Given the description of an element on the screen output the (x, y) to click on. 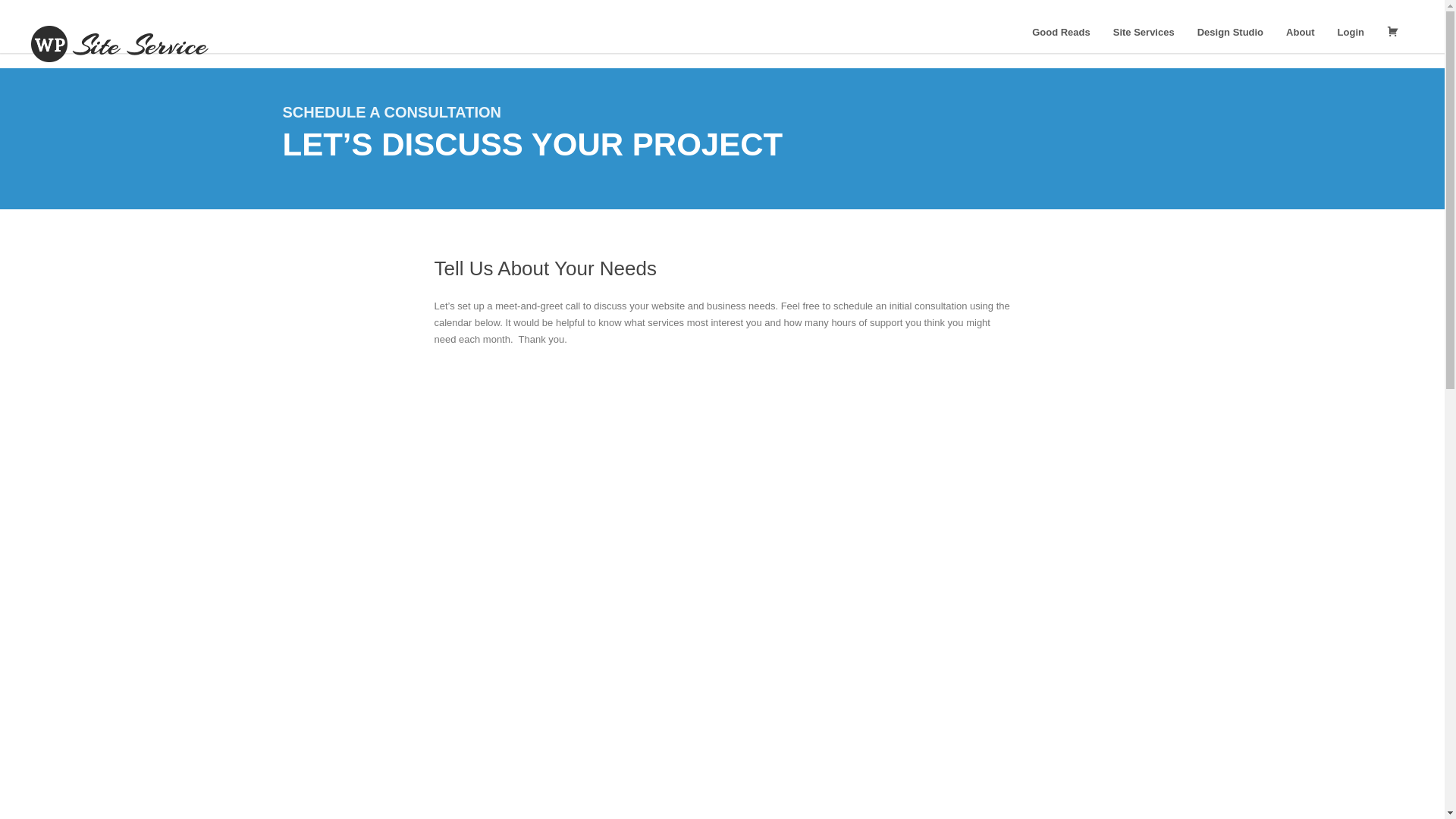
About (1300, 32)
Good Reads (1061, 32)
Design Studio (1230, 32)
Cart (1392, 32)
Site Services (1144, 32)
Login (1350, 32)
